Given the description of an element on the screen output the (x, y) to click on. 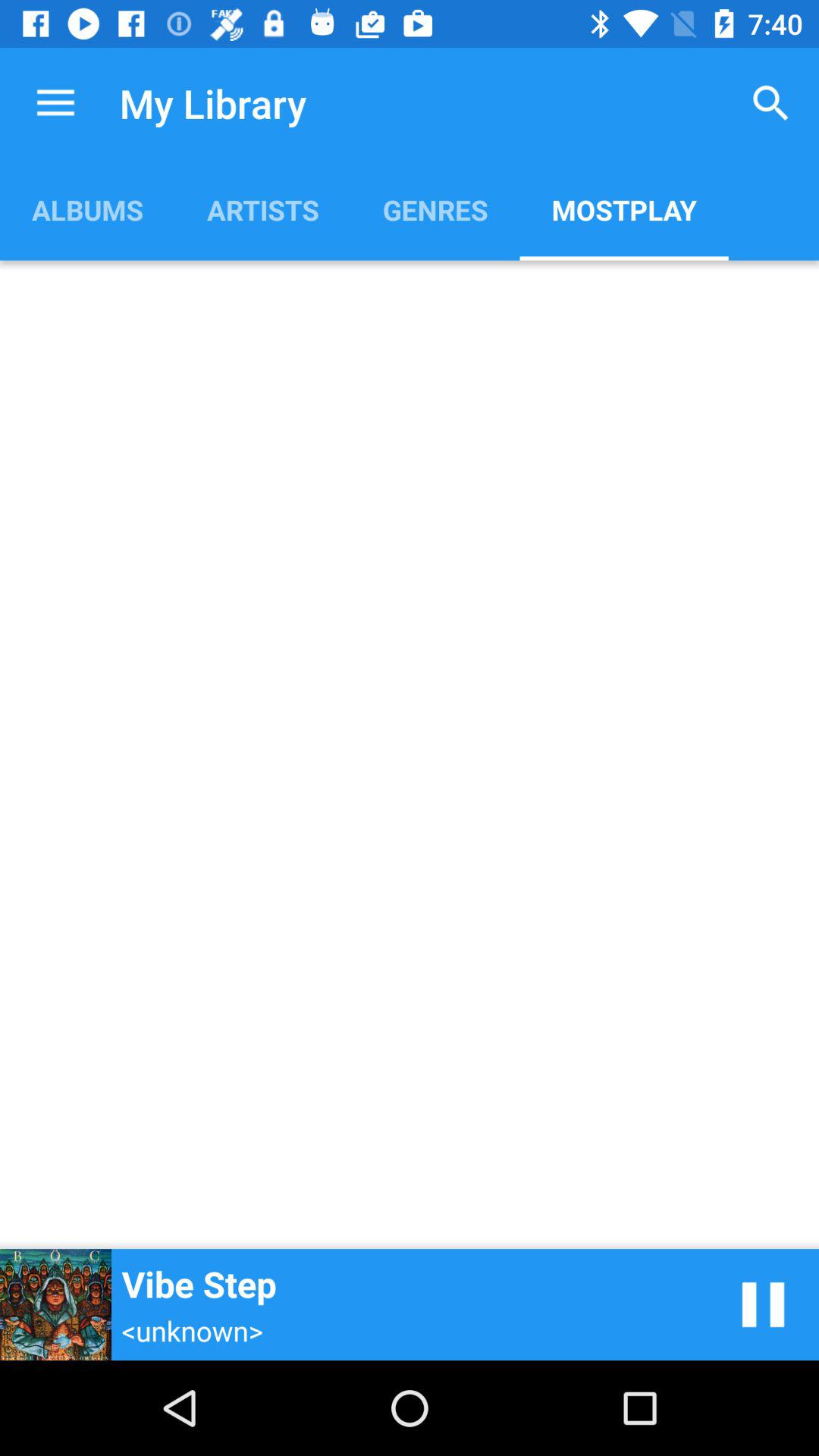
open genres app (434, 209)
